Given the description of an element on the screen output the (x, y) to click on. 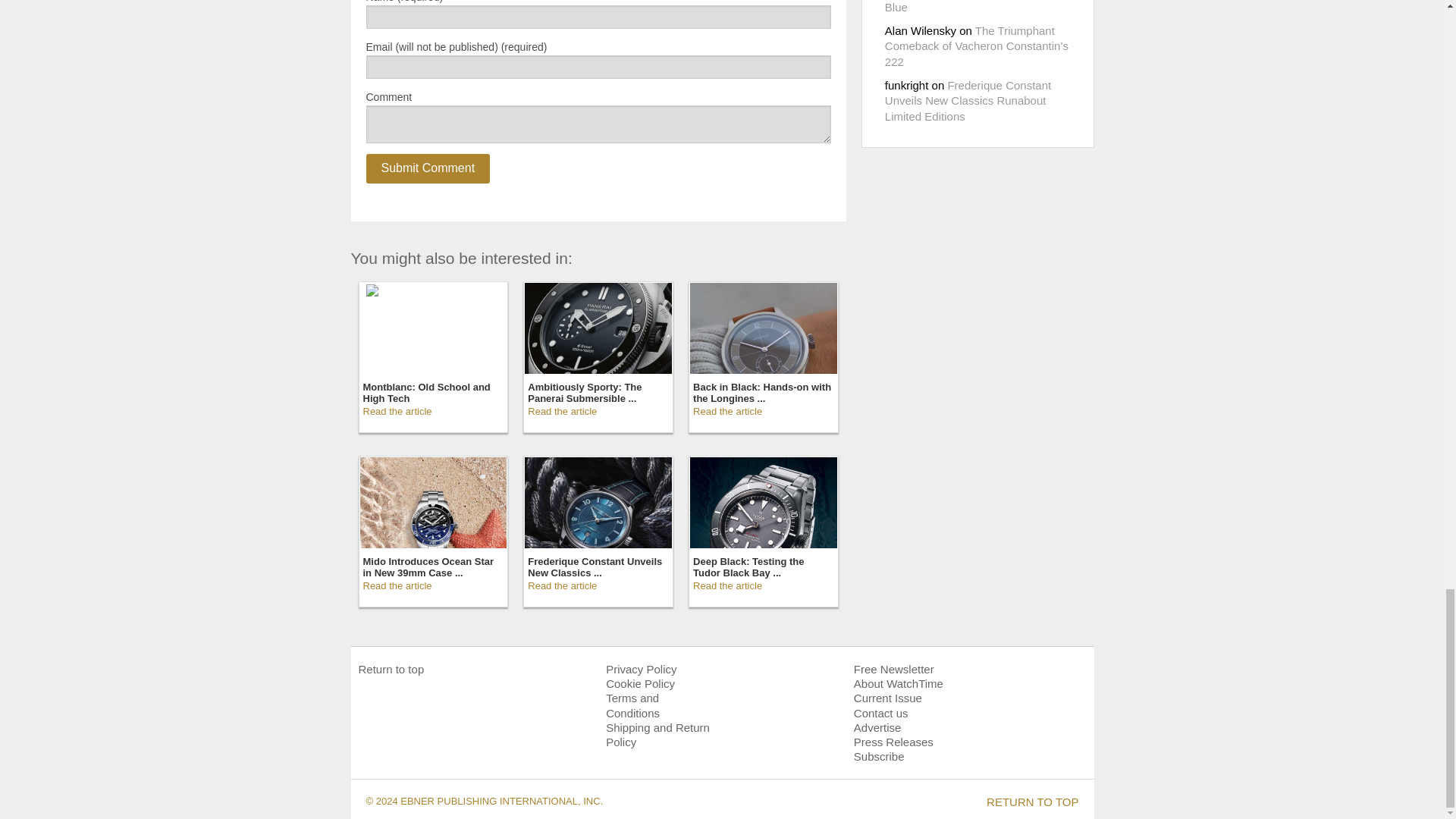
Submit Comment (427, 168)
